Given the description of an element on the screen output the (x, y) to click on. 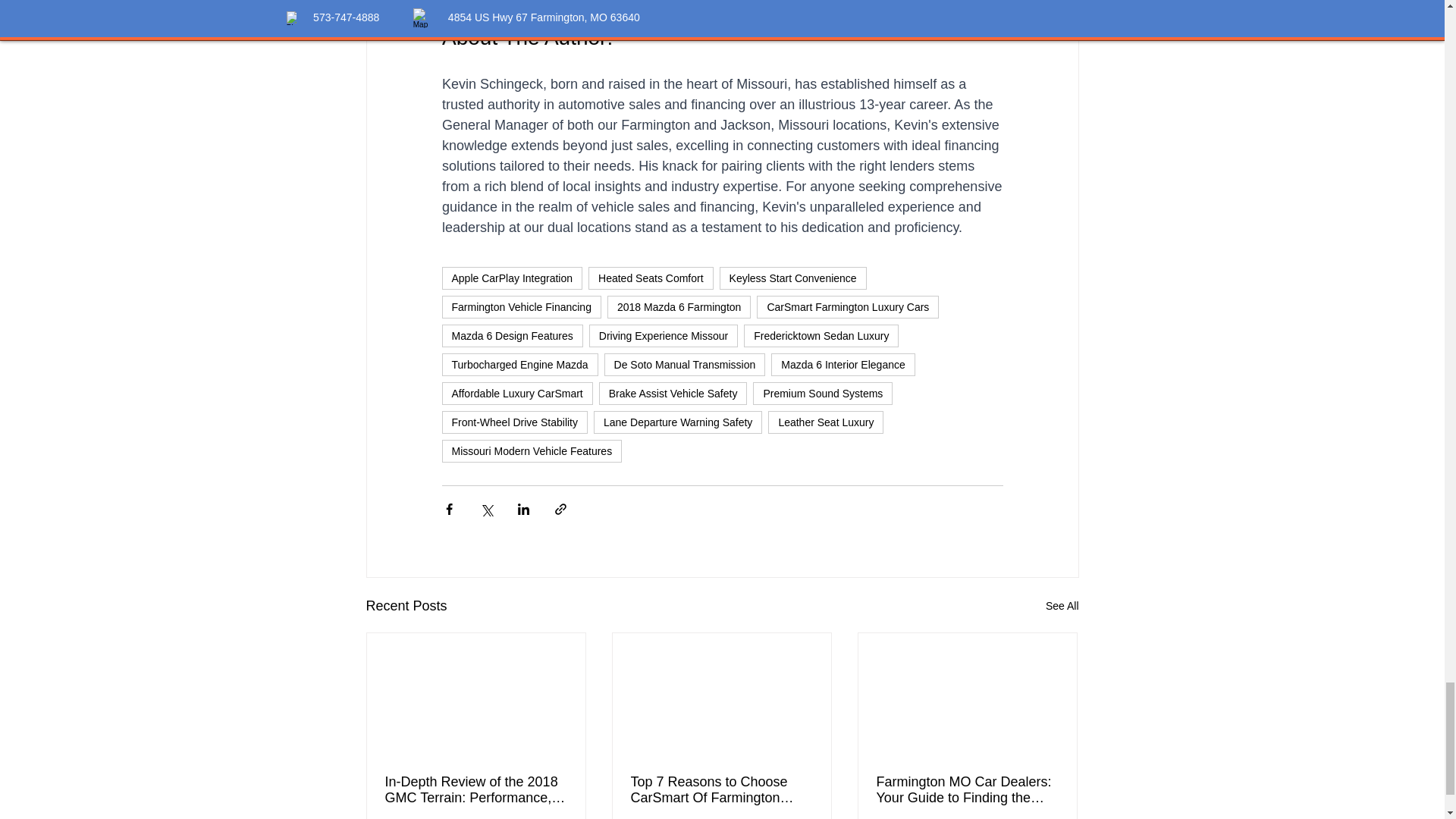
Lane Departure Warning Safety (677, 422)
Front-Wheel Drive Stability (514, 422)
Driving Experience Missour (663, 335)
Affordable Luxury CarSmart (516, 393)
Fredericktown Sedan Luxury (821, 335)
Turbocharged Engine Mazda (518, 363)
Apple CarPlay Integration (511, 277)
Brake Assist Vehicle Safety (673, 393)
Leather Seat Luxury (825, 422)
2018 Mazda 6 Farmington (679, 306)
Missouri Modern Vehicle Features (531, 450)
Keyless Start Convenience (792, 277)
See All (1061, 606)
Farmington Vehicle Financing (520, 306)
